Given the description of an element on the screen output the (x, y) to click on. 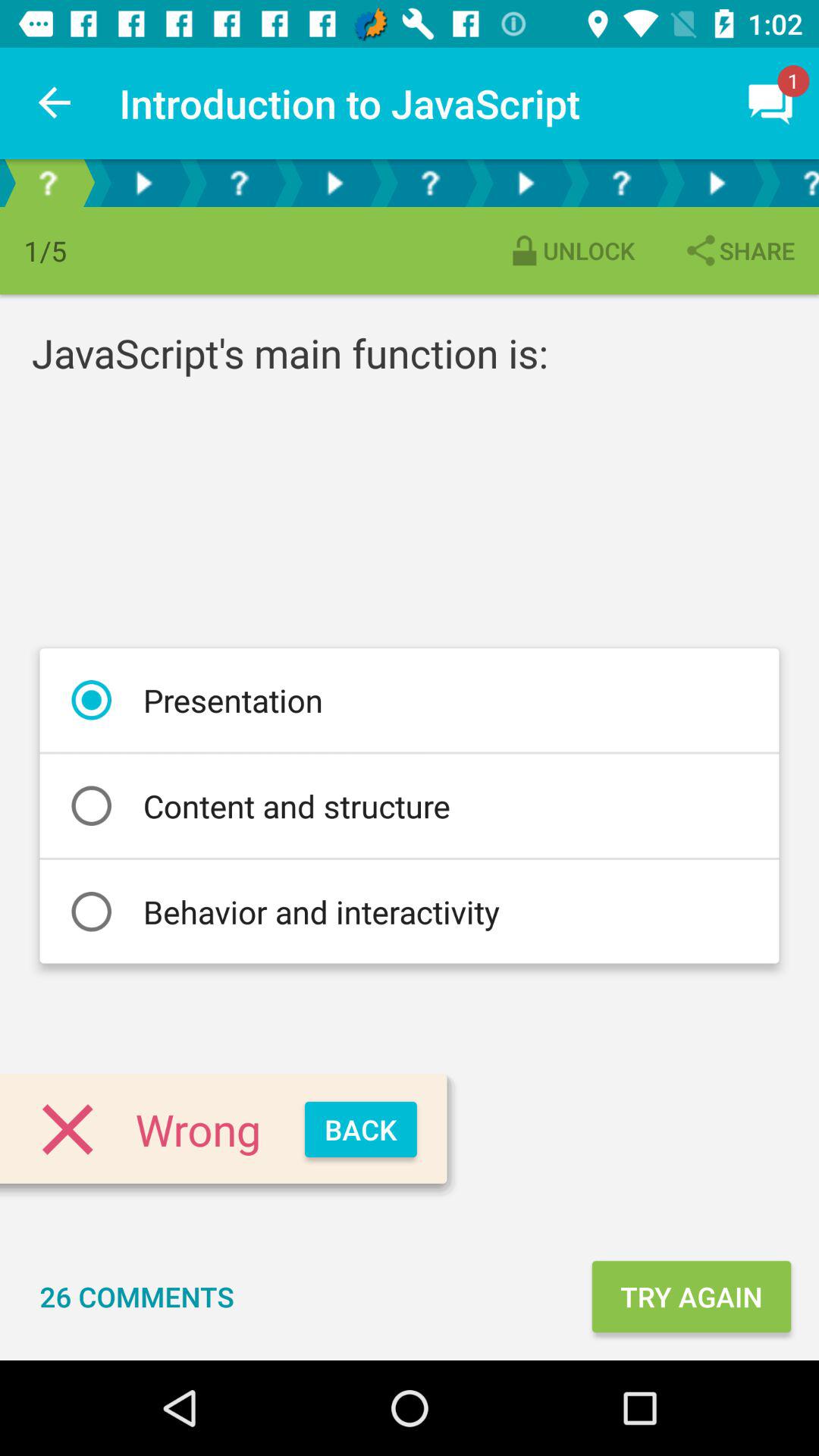
swipe until share icon (738, 250)
